Given the description of an element on the screen output the (x, y) to click on. 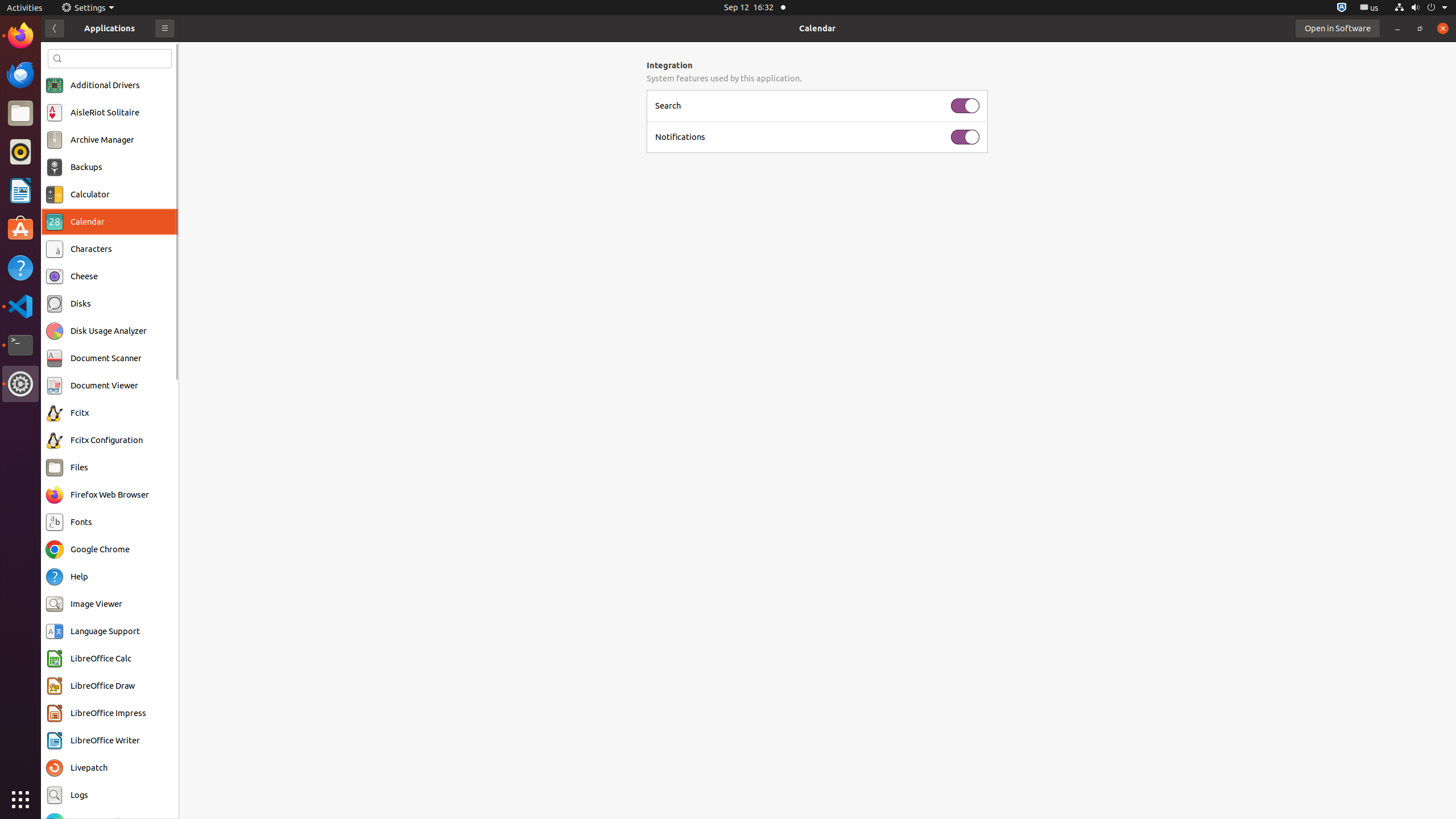
Calculator Element type: label (89, 194)
Backups Element type: label (86, 167)
luyi1 Element type: label (75, 50)
Disk Usage Analyzer Element type: label (108, 330)
edit-find-symbolic Element type: icon (56, 58)
